Given the description of an element on the screen output the (x, y) to click on. 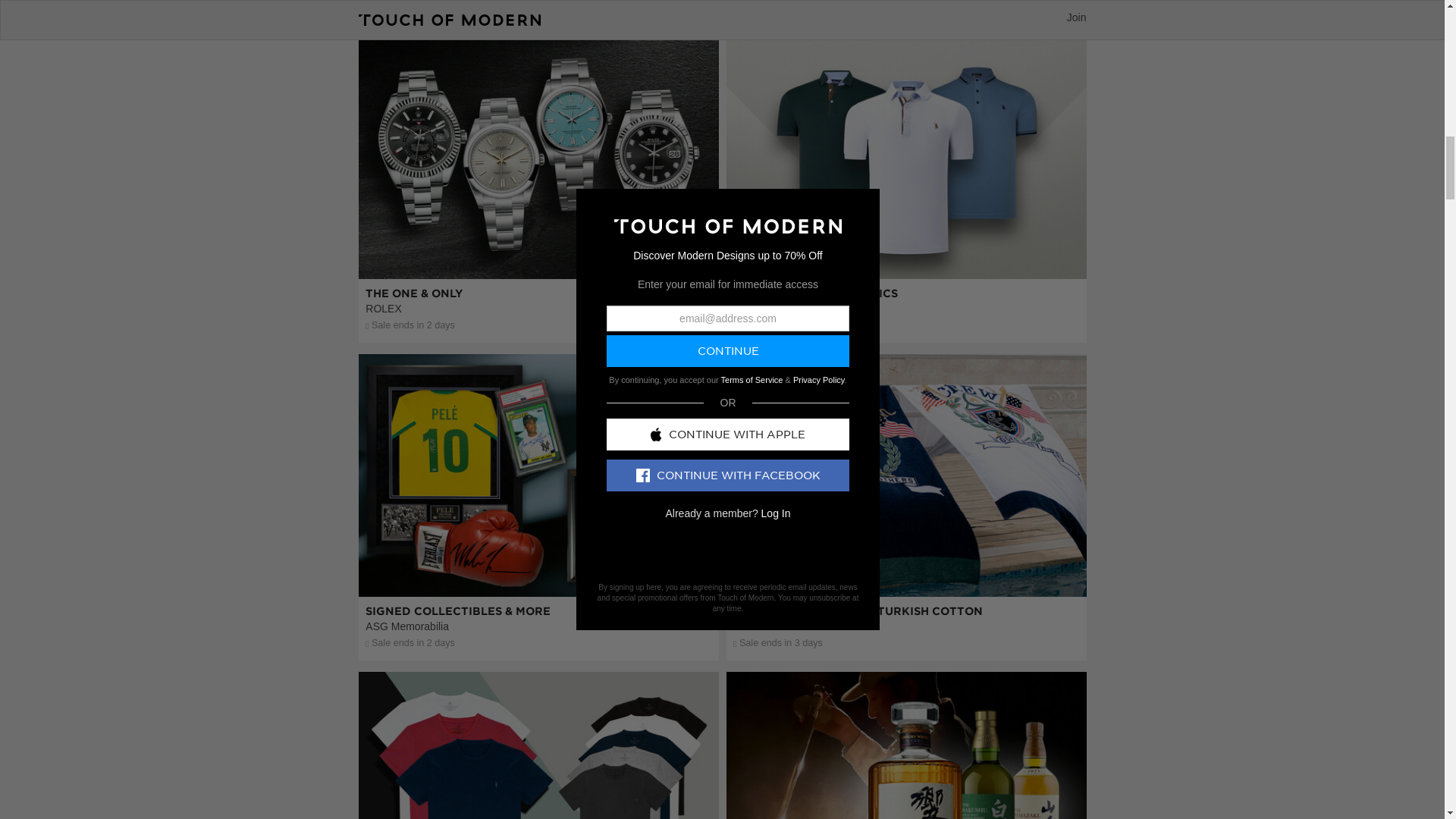
The Samurai of Spirits (906, 802)
The Best In Basics (537, 802)
The Comfort Of Pure Turkish Cotton  (906, 564)
The Season's Best Basics (906, 246)
